Given the description of an element on the screen output the (x, y) to click on. 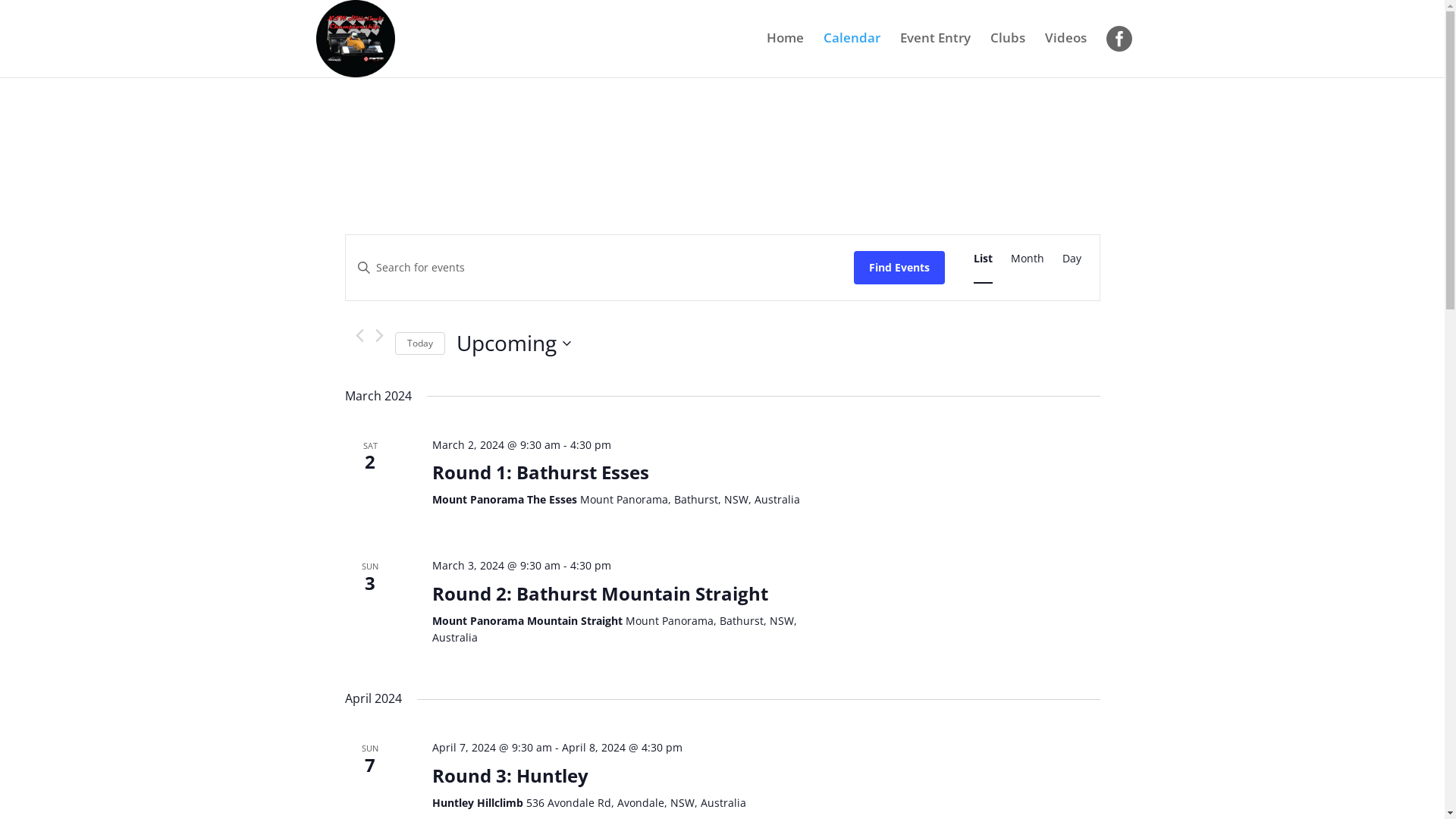
Round 2: Bathurst Mountain Straight Element type: text (600, 593)
Event Entry Element type: text (934, 50)
Videos Element type: text (1065, 50)
Today Element type: text (419, 343)
List Element type: text (982, 258)
Previous Events Element type: hover (358, 335)
Round 1: Bathurst Esses Element type: text (540, 472)
Calendar Element type: text (851, 50)
Next Events Element type: hover (378, 335)
Month Element type: text (1026, 258)
Day Element type: text (1070, 258)
Find Events Element type: text (898, 267)
Round 3: Huntley Element type: text (510, 775)
Clubs Element type: text (1007, 50)
Upcoming Element type: text (513, 343)
Home Element type: text (784, 50)
